Given the description of an element on the screen output the (x, y) to click on. 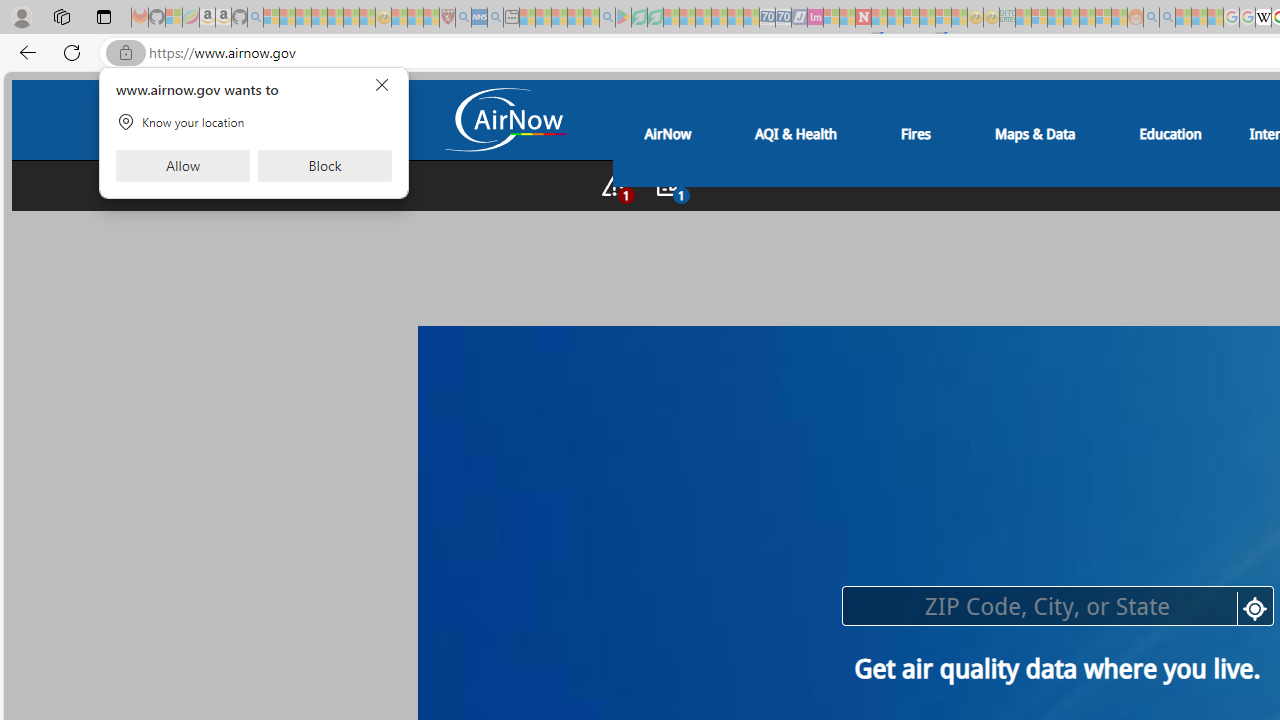
AutomationID: nav-announcements-toggle (668, 185)
AutomationID: nav-alerts-toggle (614, 185)
